Given the description of an element on the screen output the (x, y) to click on. 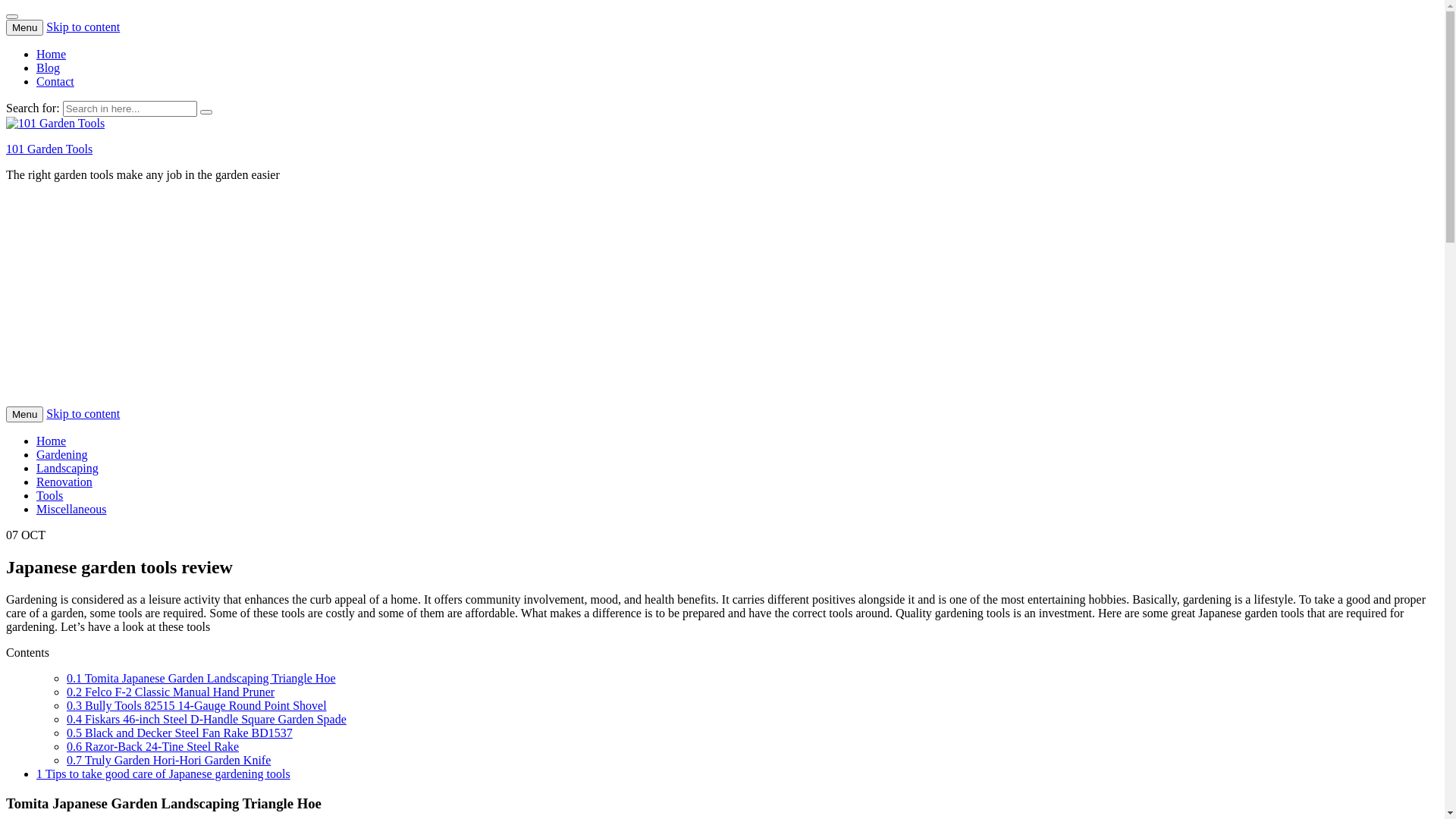
Blog Element type: text (47, 67)
Search Element type: hover (206, 111)
Menu Element type: text (24, 27)
0.3 Bully Tools 82515 14-Gauge Round Point Shovel Element type: text (196, 705)
0.5 Black and Decker Steel Fan Rake BD1537 Element type: text (179, 732)
1 Tips to take good care of Japanese gardening tools Element type: text (163, 773)
Advertisement Element type: hover (461, 300)
Skip to content Element type: text (82, 413)
Gardening Element type: text (61, 454)
101 Garden Tools Element type: text (49, 148)
Landscaping Element type: text (67, 467)
Renovation Element type: text (64, 481)
Menu Element type: text (24, 414)
Contact Element type: text (55, 81)
Skip to content Element type: text (82, 26)
Tools Element type: text (49, 495)
0.7 Truly Garden Hori-Hori Garden Knife Element type: text (168, 759)
Home Element type: text (50, 440)
0.1 Tomita Japanese Garden Landscaping Triangle Hoe Element type: text (200, 677)
0.2 Felco F-2 Classic Manual Hand Pruner Element type: text (170, 691)
Home Element type: text (50, 53)
0.6 Razor-Back 24-Tine Steel Rake Element type: text (152, 746)
Miscellaneous Element type: text (71, 508)
0.4 Fiskars 46-inch Steel D-Handle Square Garden Spade Element type: text (206, 718)
Search for: Element type: hover (129, 108)
